Given the description of an element on the screen output the (x, y) to click on. 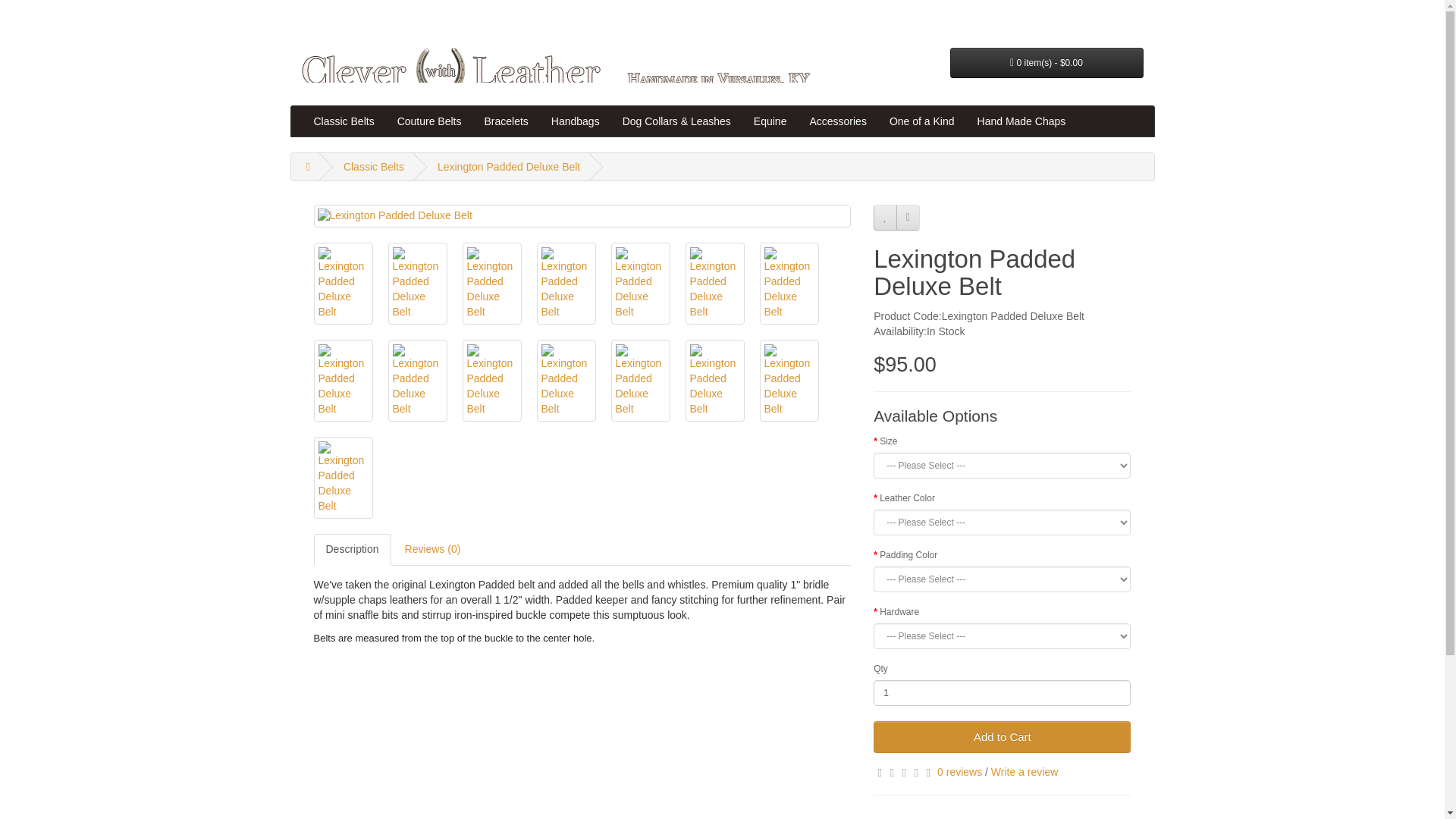
Clever with Leather (562, 72)
Equine (769, 121)
Shopping Cart (1047, 15)
1 (1002, 692)
Lexington Padded Deluxe Belt (508, 166)
Lexington Padded Deluxe Belt (582, 215)
Accessories (837, 121)
Couture Belts (429, 121)
Shopping Cart (1047, 15)
Hand Made Chaps (1021, 121)
Lexington Padded Deluxe Belt (582, 215)
Handbags (575, 121)
Classic Belts (343, 121)
Classic Belts (373, 166)
Checkout (1120, 15)
